Given the description of an element on the screen output the (x, y) to click on. 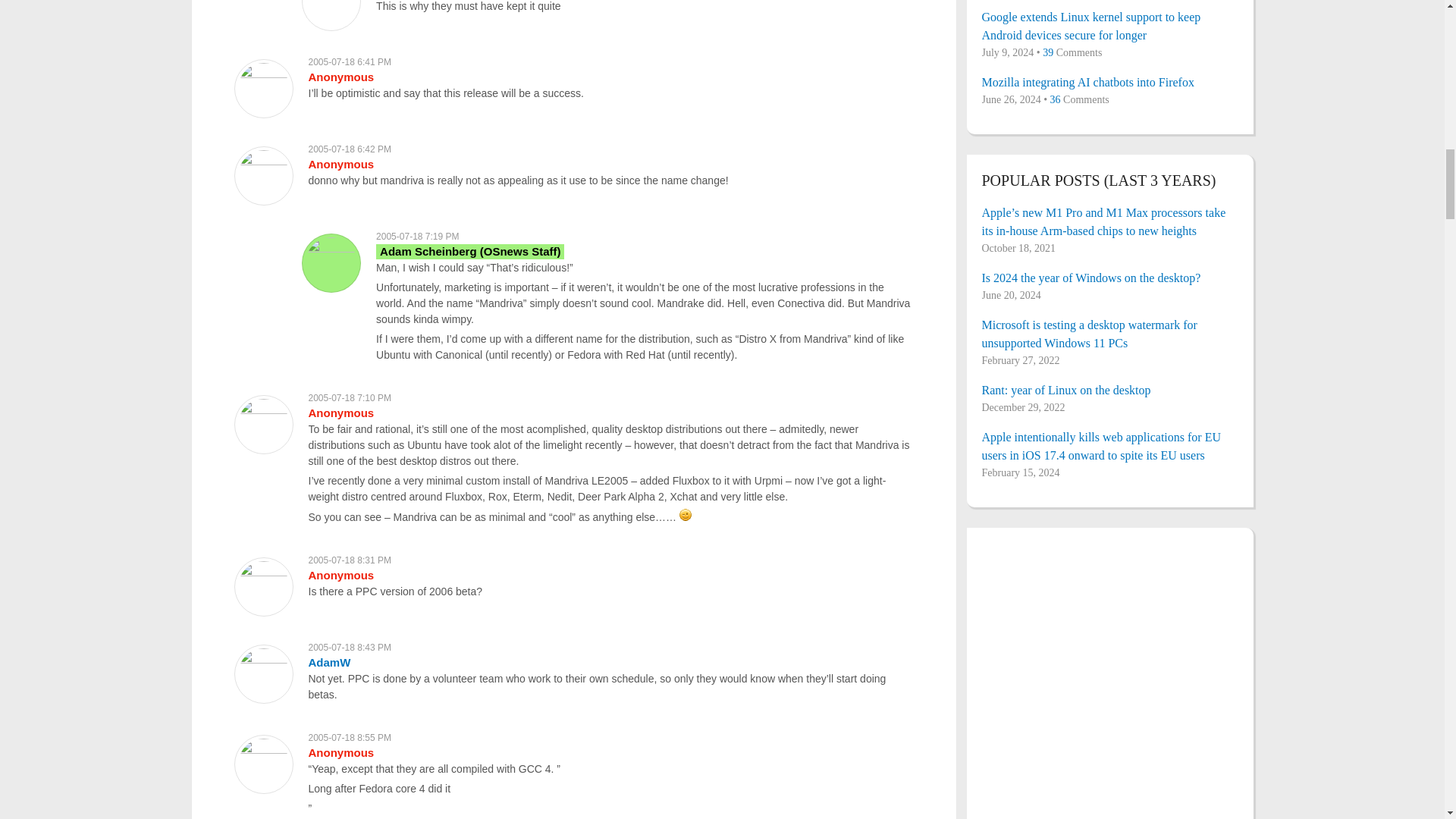
Anonymous (340, 76)
Anonymous (340, 574)
Anonymous (340, 412)
Adam Scheinberg (469, 251)
Anonymous (340, 164)
AdamW (328, 662)
